Given the description of an element on the screen output the (x, y) to click on. 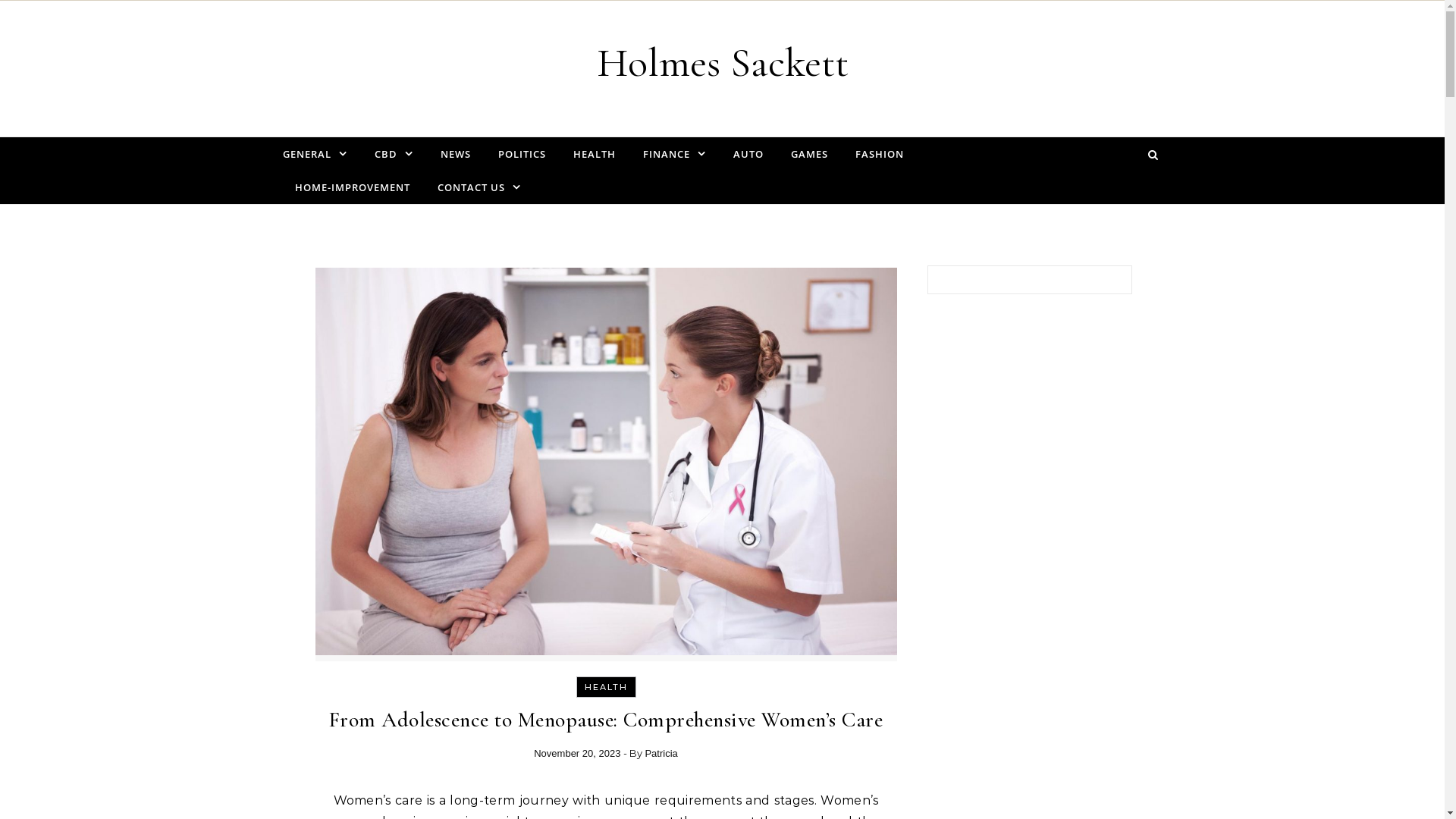
CBD Element type: text (393, 153)
GENERAL Element type: text (320, 153)
HEALTH Element type: text (605, 686)
POLITICS Element type: text (521, 153)
NEWS Element type: text (454, 153)
GAMES Element type: text (808, 153)
Patricia Element type: text (660, 753)
HEALTH Element type: text (594, 153)
Search Element type: text (1104, 282)
Holmes Sackett Element type: text (721, 62)
HOME-IMPROVEMENT Element type: text (351, 186)
FINANCE Element type: text (674, 153)
AUTO Element type: text (747, 153)
FASHION Element type: text (879, 153)
CONTACT US Element type: text (472, 186)
